Given the description of an element on the screen output the (x, y) to click on. 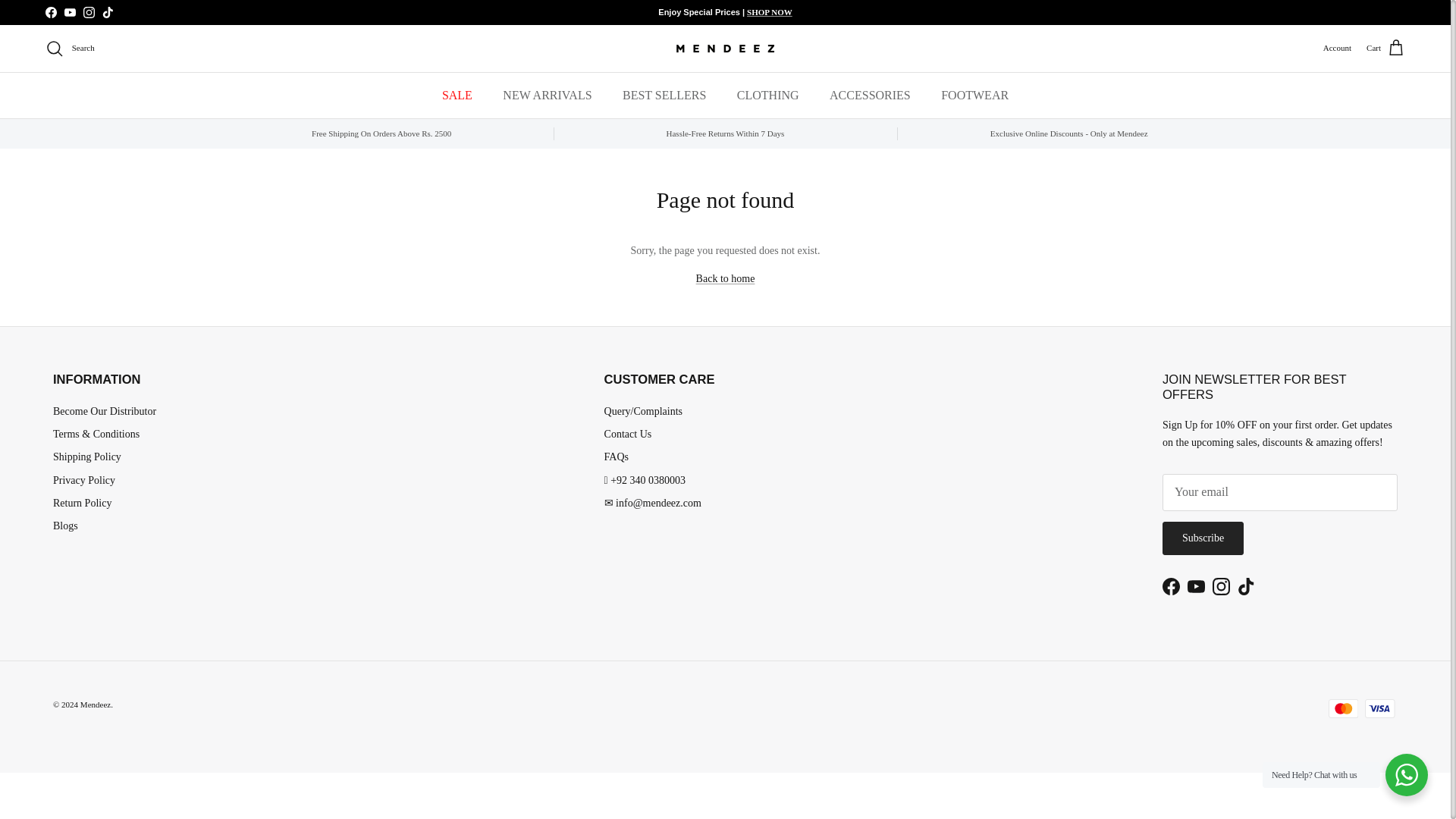
CLOTHING (767, 94)
TikTok (107, 12)
Mendeez on TikTok (107, 12)
Mendeez on TikTok (1246, 586)
Mendeez on YouTube (69, 12)
SALE (457, 94)
Cart (1386, 48)
Mendeez on Instagram (1221, 586)
Mendeez (725, 47)
Search (69, 48)
